Given the description of an element on the screen output the (x, y) to click on. 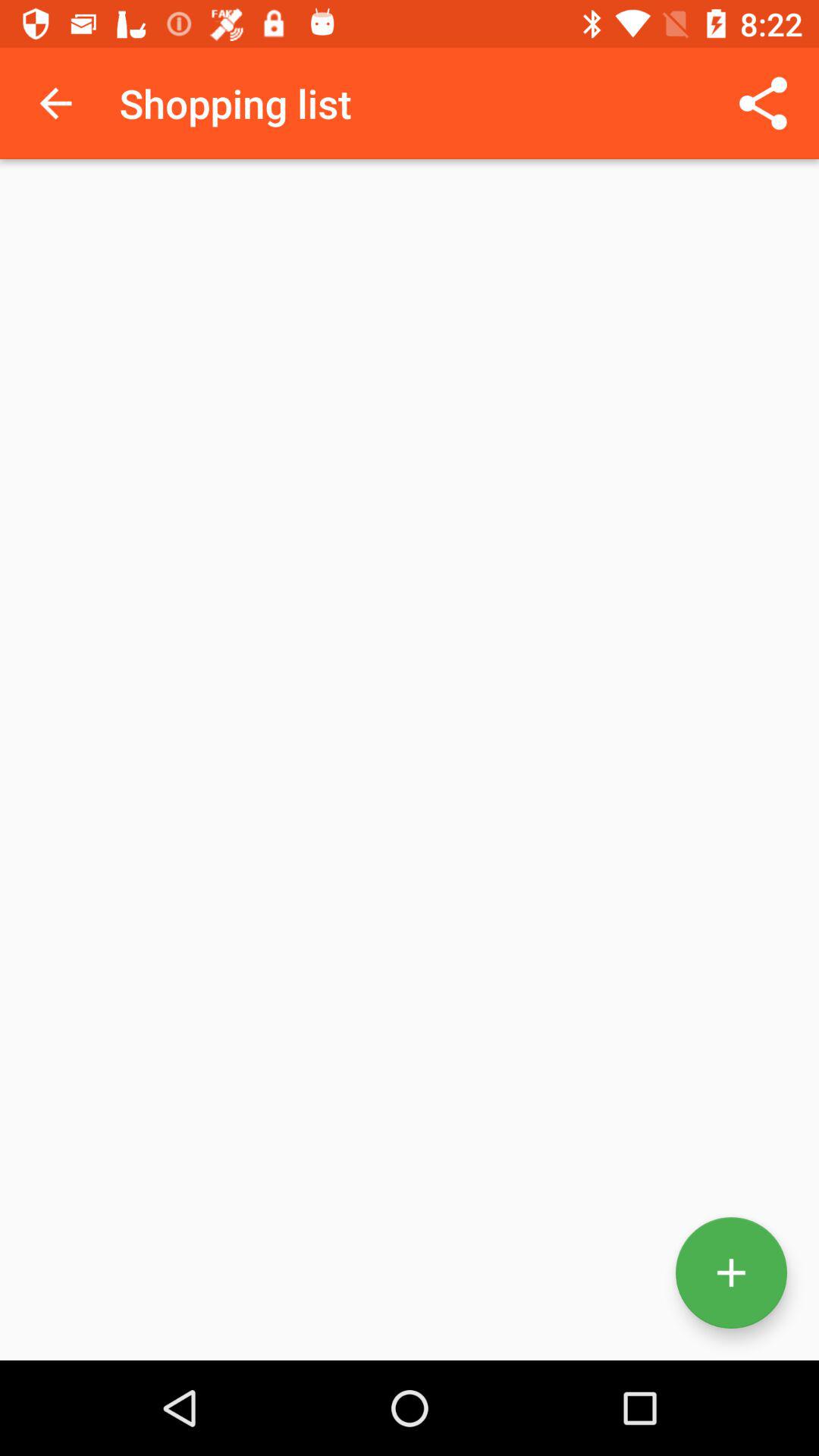
turn off item at the top right corner (763, 103)
